Given the description of an element on the screen output the (x, y) to click on. 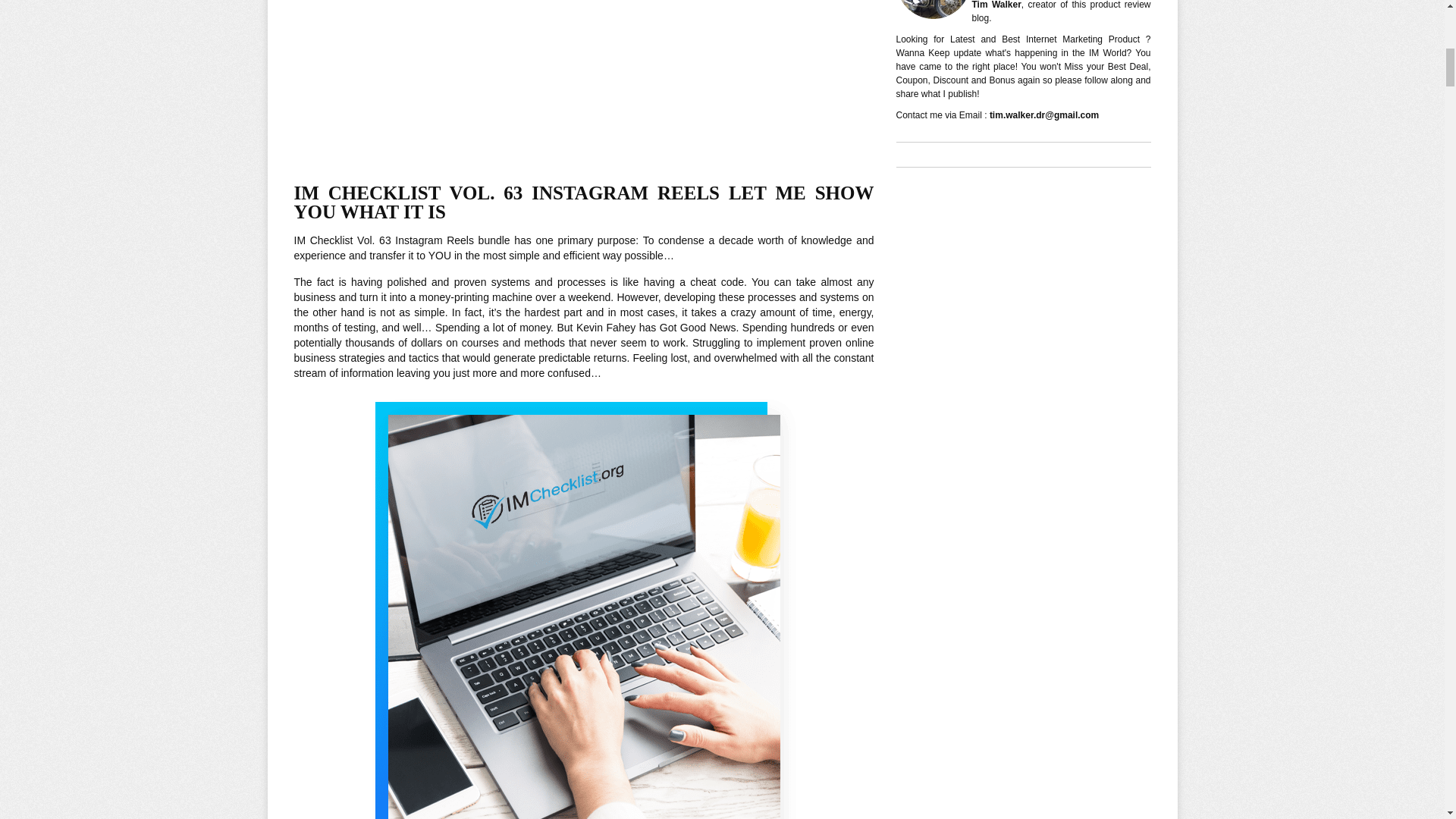
Advertisement (584, 82)
